Given the description of an element on the screen output the (x, y) to click on. 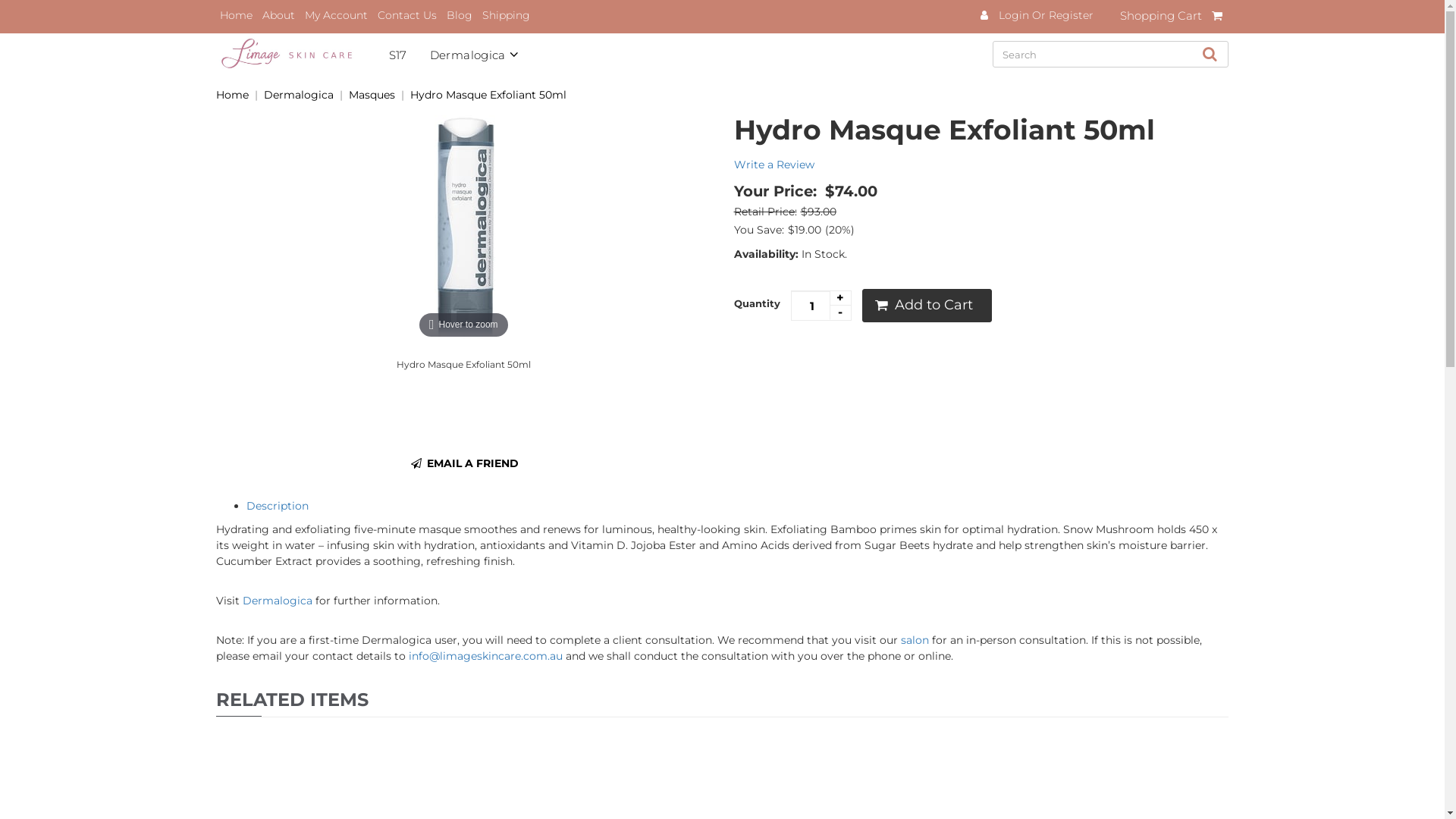
Home Element type: text (236, 14)
Dermalogica Element type: text (277, 600)
Write a Review Element type: text (774, 164)
Dermalogica Element type: text (298, 94)
Add to Cart Element type: text (926, 305)
Home Element type: text (232, 94)
Contact Us Element type: text (406, 14)
Dermalogica Element type: text (485, 52)
S17 Element type: text (408, 52)
Blog Element type: text (459, 14)
EMAIL A FRIEND Element type: text (463, 463)
info@limageskincare.com.au Element type: text (485, 655)
+ Element type: text (839, 298)
- Element type: text (839, 312)
My Account Element type: text (336, 14)
Hydro Masque Exfoliant 50ml Element type: text (488, 94)
Hover to zoom Element type: text (463, 228)
salon Element type: text (914, 639)
Shipping Element type: text (505, 14)
Shopping Cart Element type: text (1174, 17)
Login Or Register Element type: text (1044, 14)
Masques Element type: text (371, 94)
Description Element type: text (277, 505)
About Element type: text (278, 14)
